Given the description of an element on the screen output the (x, y) to click on. 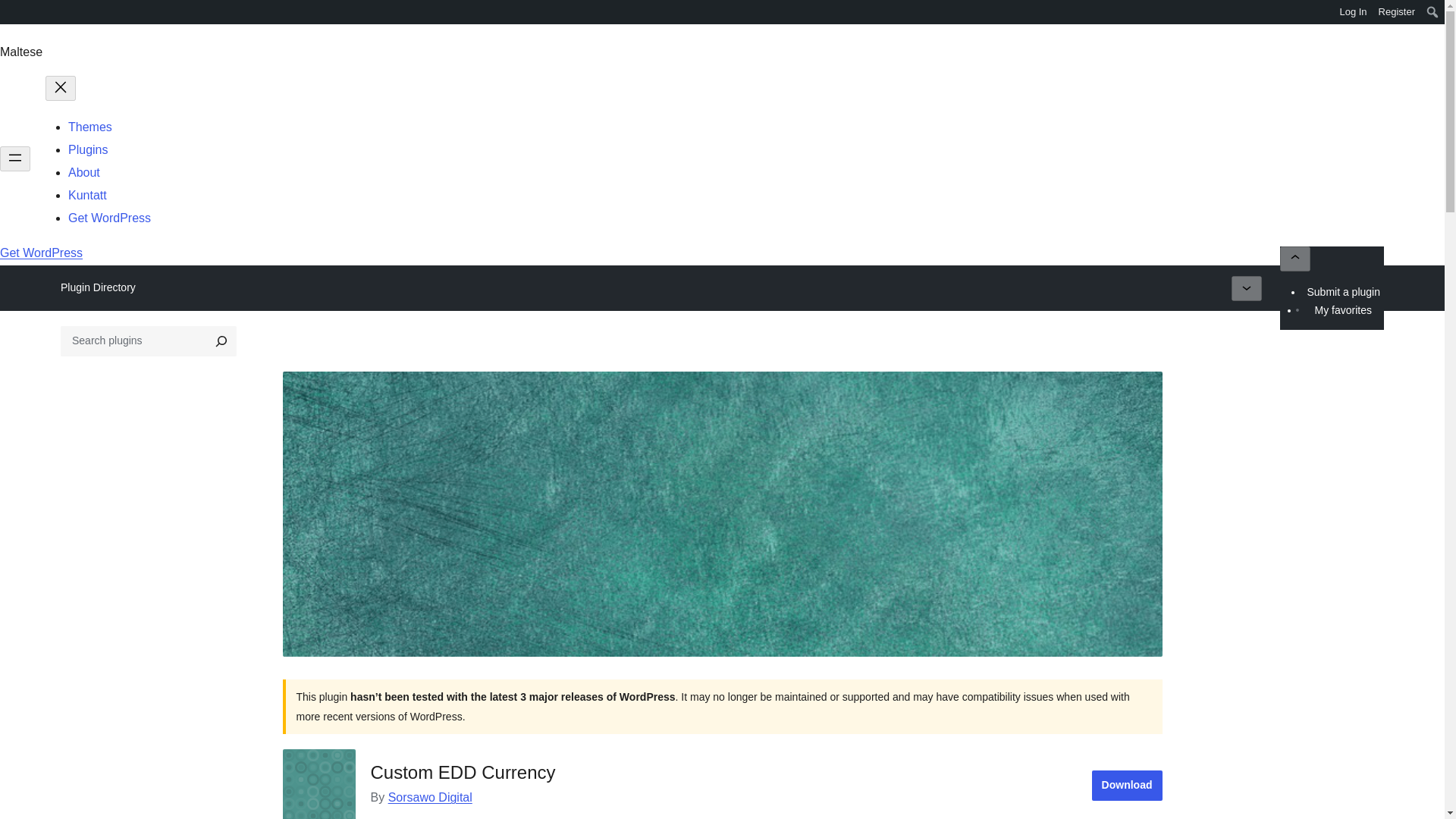
Themes (90, 126)
Register (1397, 12)
WordPress.org (10, 10)
Plugins (87, 149)
Kuntatt (87, 195)
WordPress.org (10, 16)
Get WordPress (109, 217)
Get WordPress (41, 252)
Submit a plugin (1343, 291)
Download (1126, 785)
Plugin Directory (97, 287)
Search (16, 13)
About (84, 172)
Sorsawo Digital (429, 797)
My favorites (1342, 310)
